Given the description of an element on the screen output the (x, y) to click on. 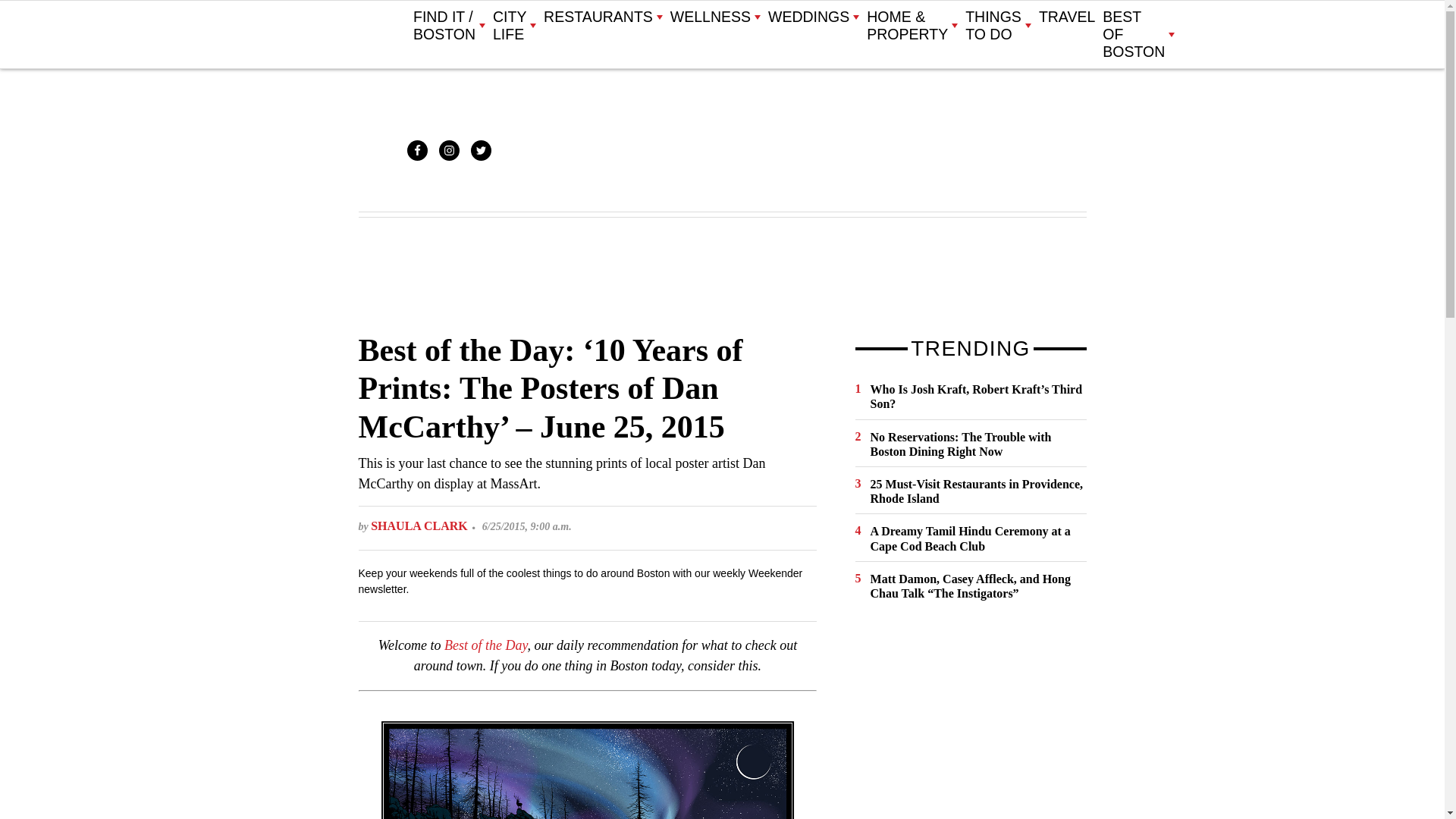
WEDDINGS (813, 16)
WELLNESS (714, 16)
RESTAURANTS (602, 16)
THINGS TO DO (997, 25)
